Given the description of an element on the screen output the (x, y) to click on. 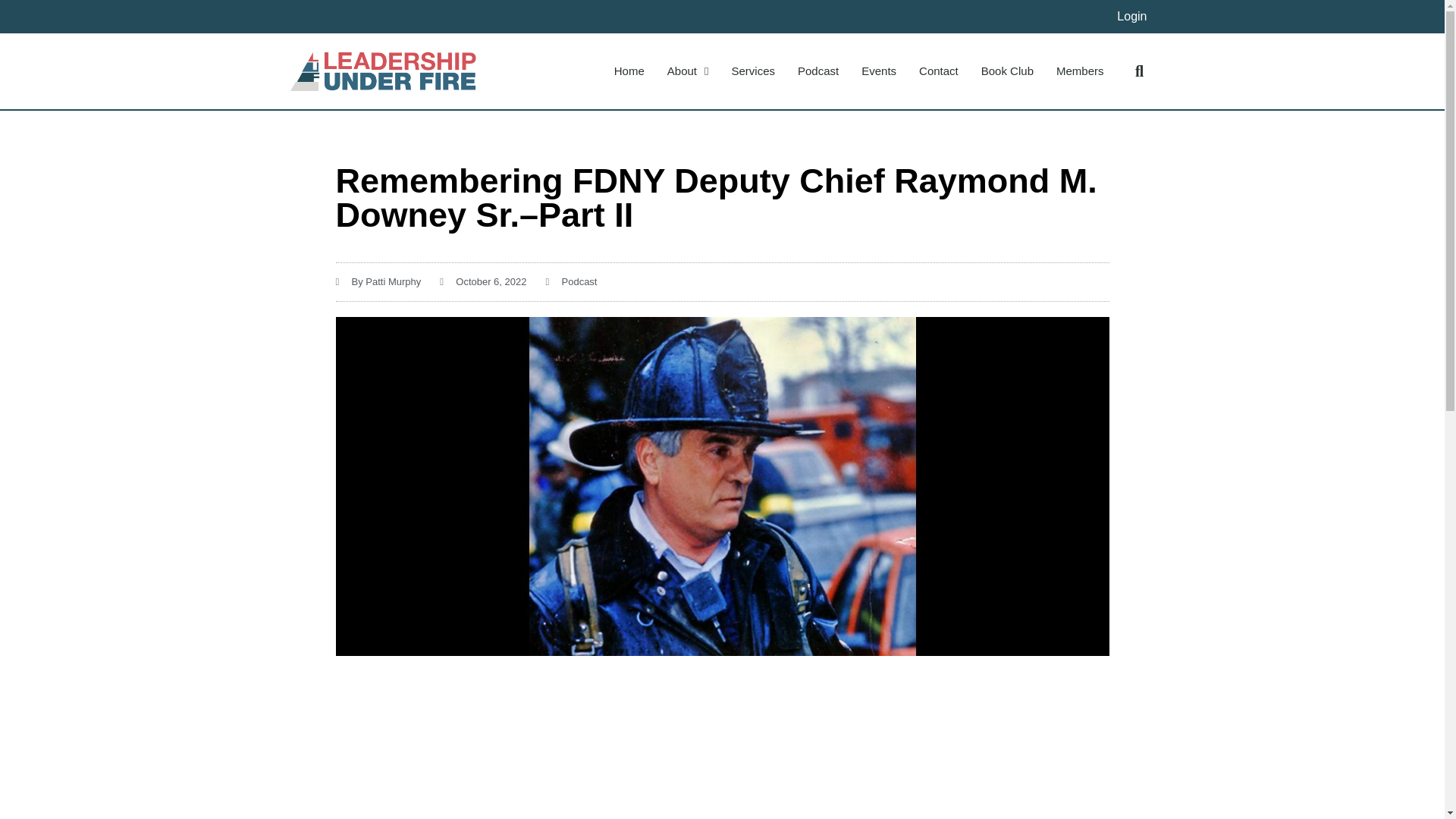
Members (1080, 70)
Book Club (1007, 70)
October 6, 2022 (482, 281)
Podcast (578, 281)
By Patti Murphy (377, 281)
Login (1131, 15)
